Given the description of an element on the screen output the (x, y) to click on. 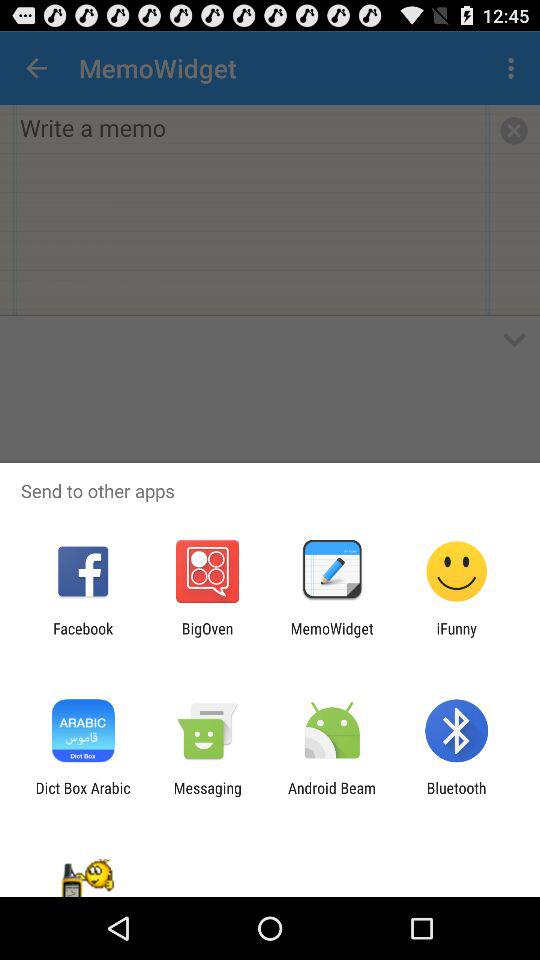
turn on the icon to the left of the bluetooth item (332, 796)
